Given the description of an element on the screen output the (x, y) to click on. 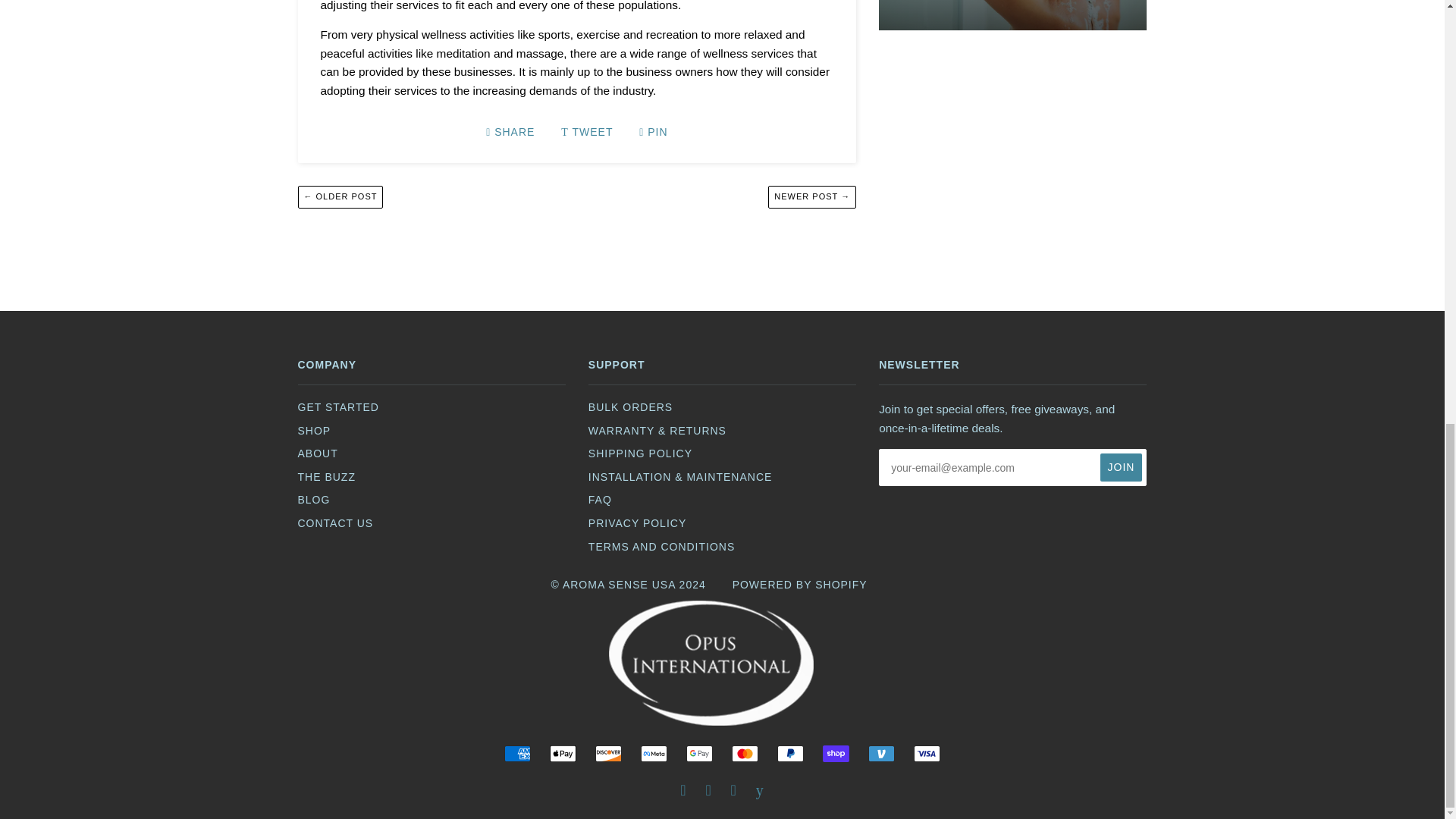
Join (1121, 467)
MASTERCARD (745, 753)
PAYPAL (790, 753)
DISCOVER (608, 753)
AMERICAN EXPRESS (517, 753)
VISA (925, 753)
META PAY (653, 753)
SHOP PAY (835, 753)
VENMO (881, 753)
GOOGLE PAY (699, 753)
